Given the description of an element on the screen output the (x, y) to click on. 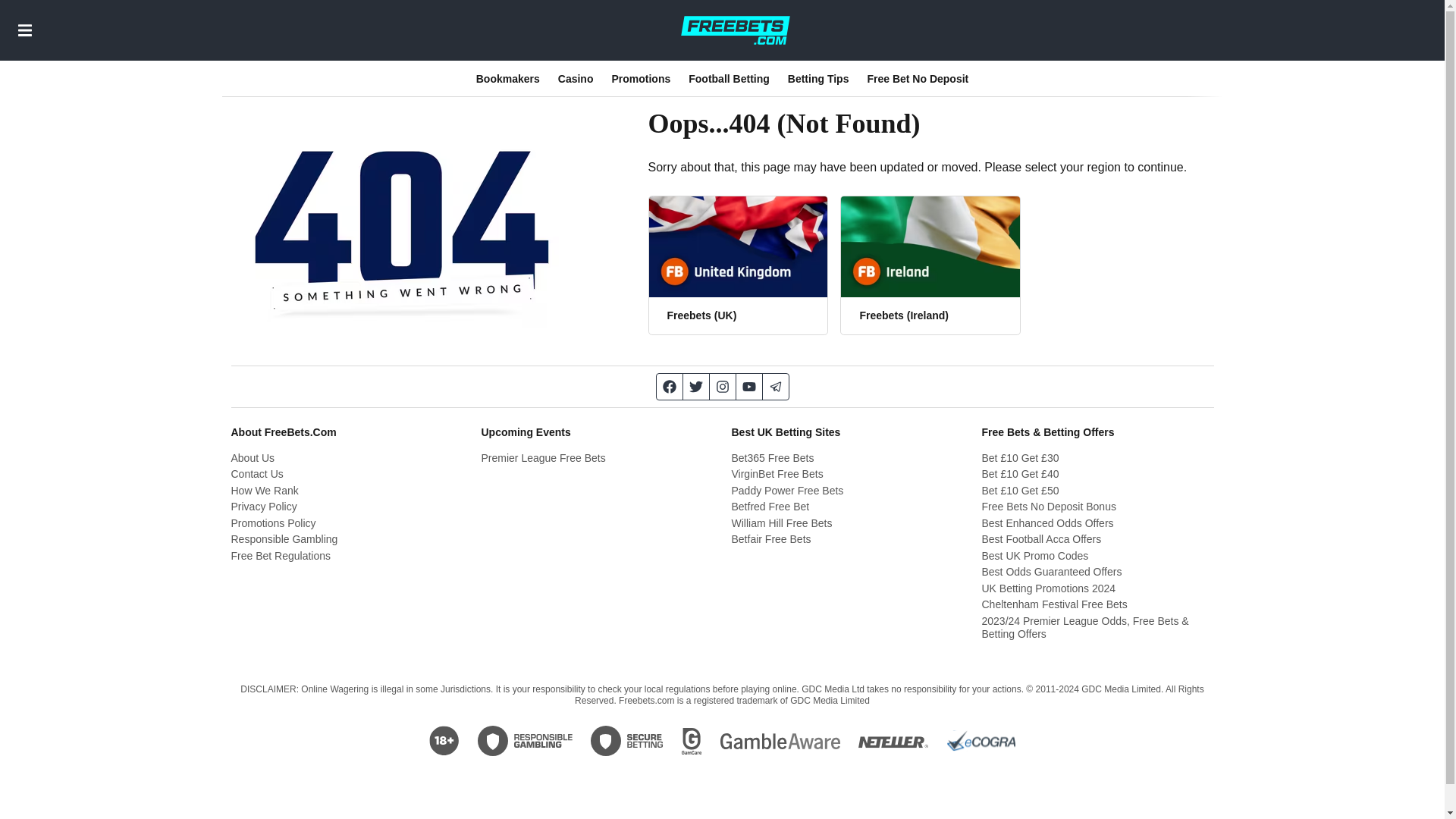
Twitter feed (695, 386)
Youtube page (748, 386)
FreeBets Logo (735, 29)
Instagram page (723, 386)
Facebook page (669, 386)
Telegram (775, 386)
